Given the description of an element on the screen output the (x, y) to click on. 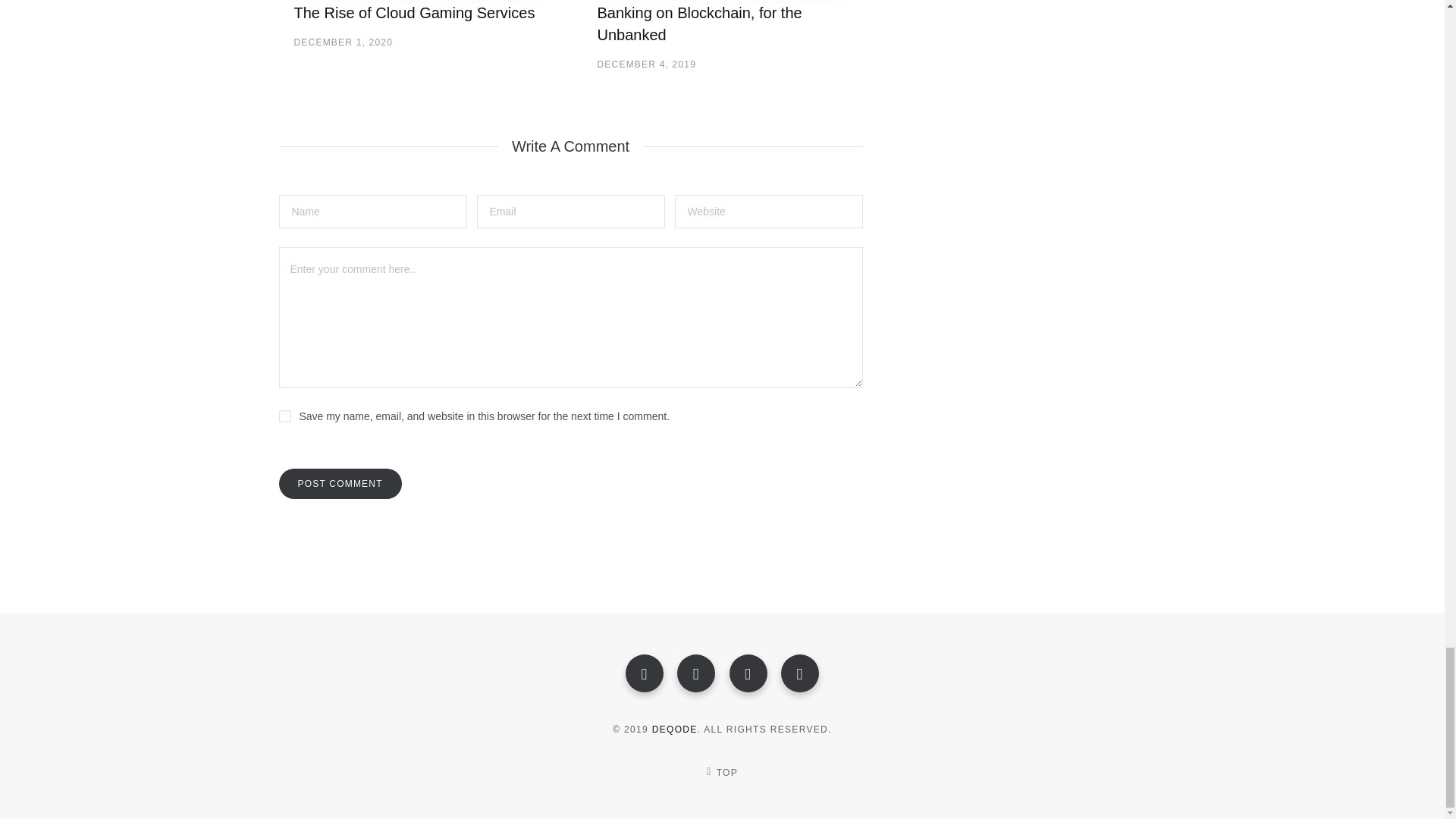
Post Comment (340, 483)
Banking on Blockchain, for the Unbanked (699, 23)
Post Comment (340, 483)
yes (285, 416)
The Rise of Cloud Gaming Services (414, 12)
